Given the description of an element on the screen output the (x, y) to click on. 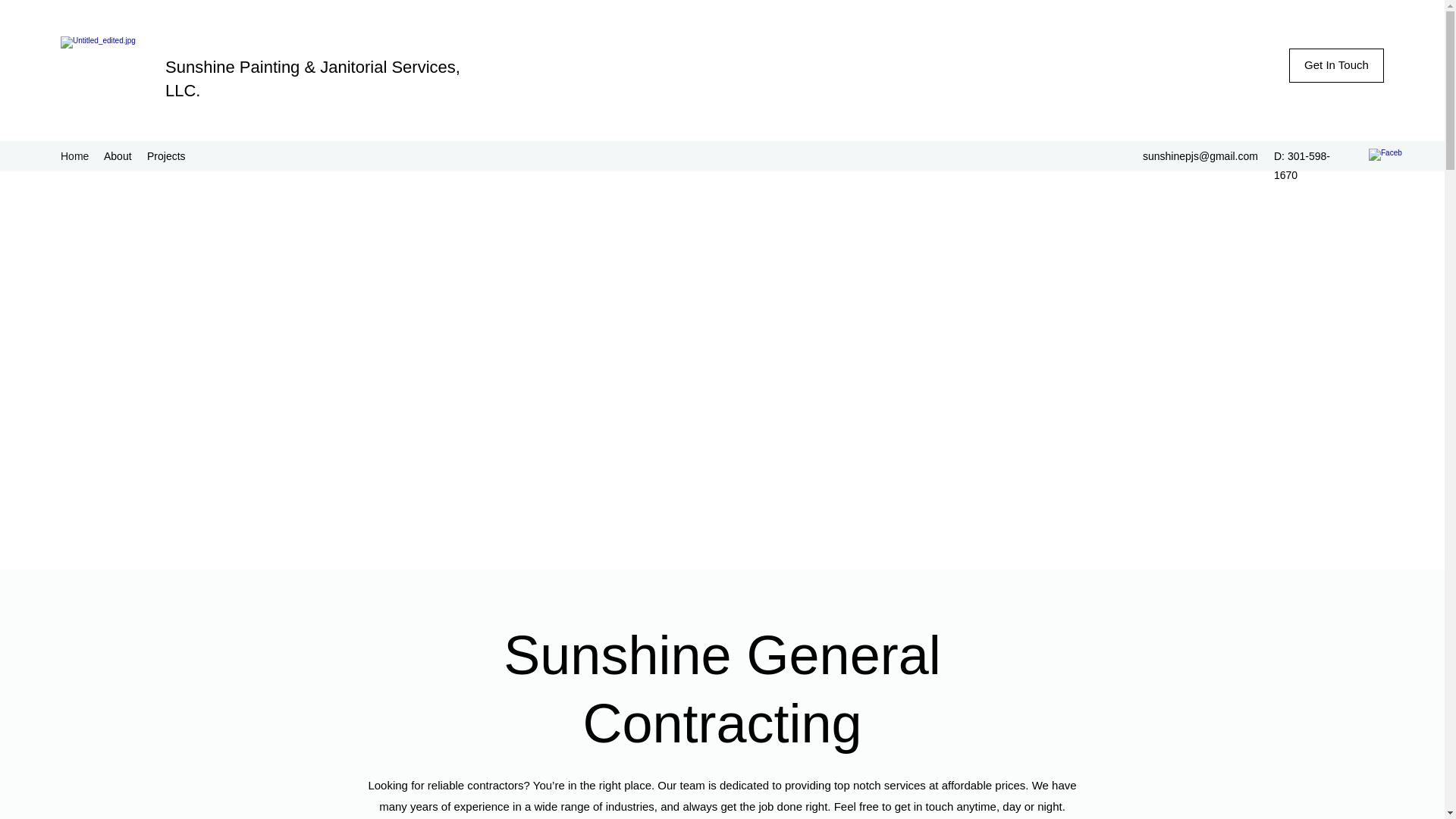
About (117, 155)
Home (74, 155)
Projects (166, 155)
Get In Touch (1336, 65)
